Given the description of an element on the screen output the (x, y) to click on. 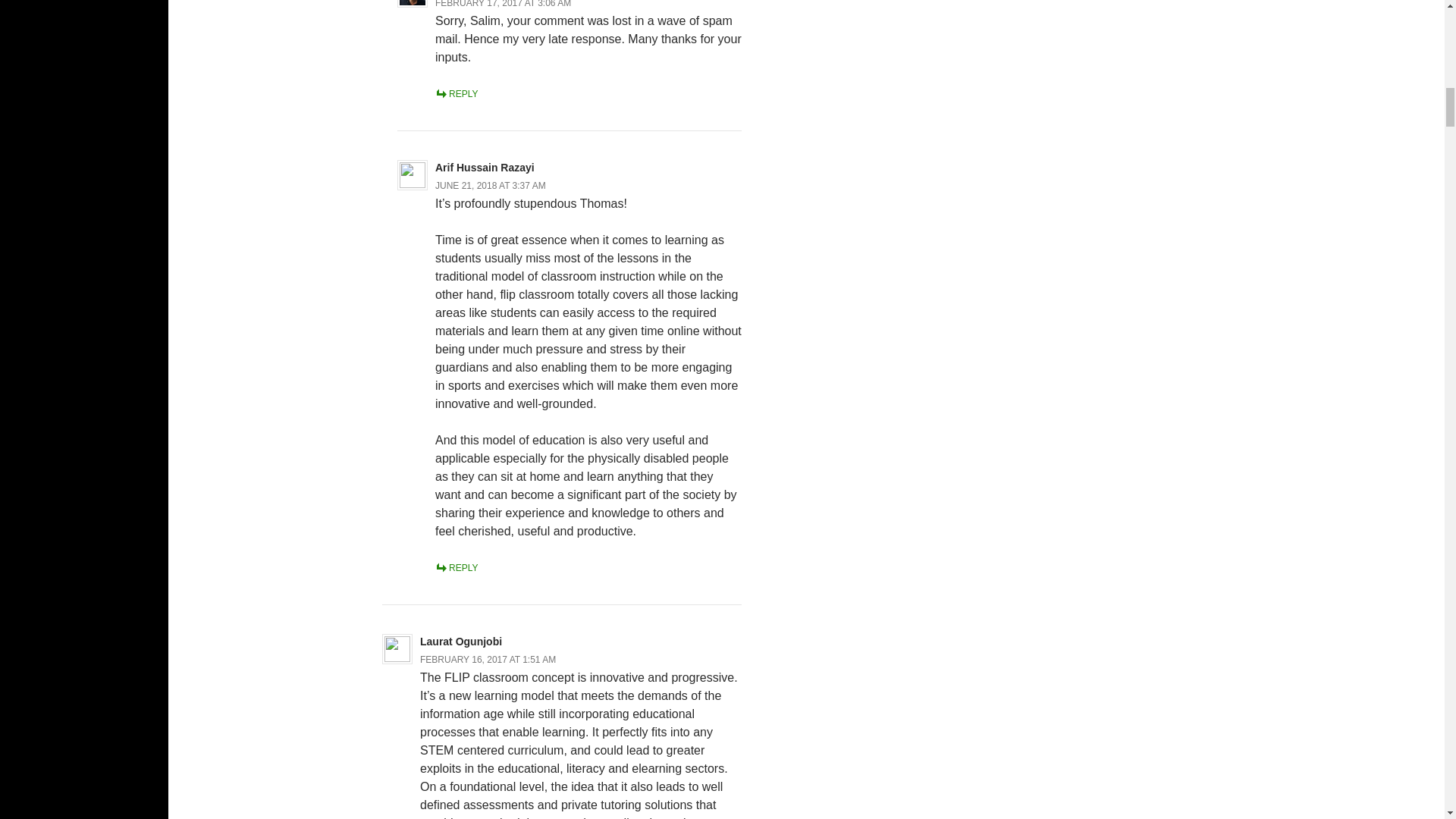
FEBRUARY 16, 2017 AT 1:51 AM (488, 659)
Laurat Ogunjobi (461, 641)
REPLY (456, 567)
REPLY (456, 93)
JUNE 21, 2018 AT 3:37 AM (490, 185)
FEBRUARY 17, 2017 AT 3:06 AM (502, 4)
